Given the description of an element on the screen output the (x, y) to click on. 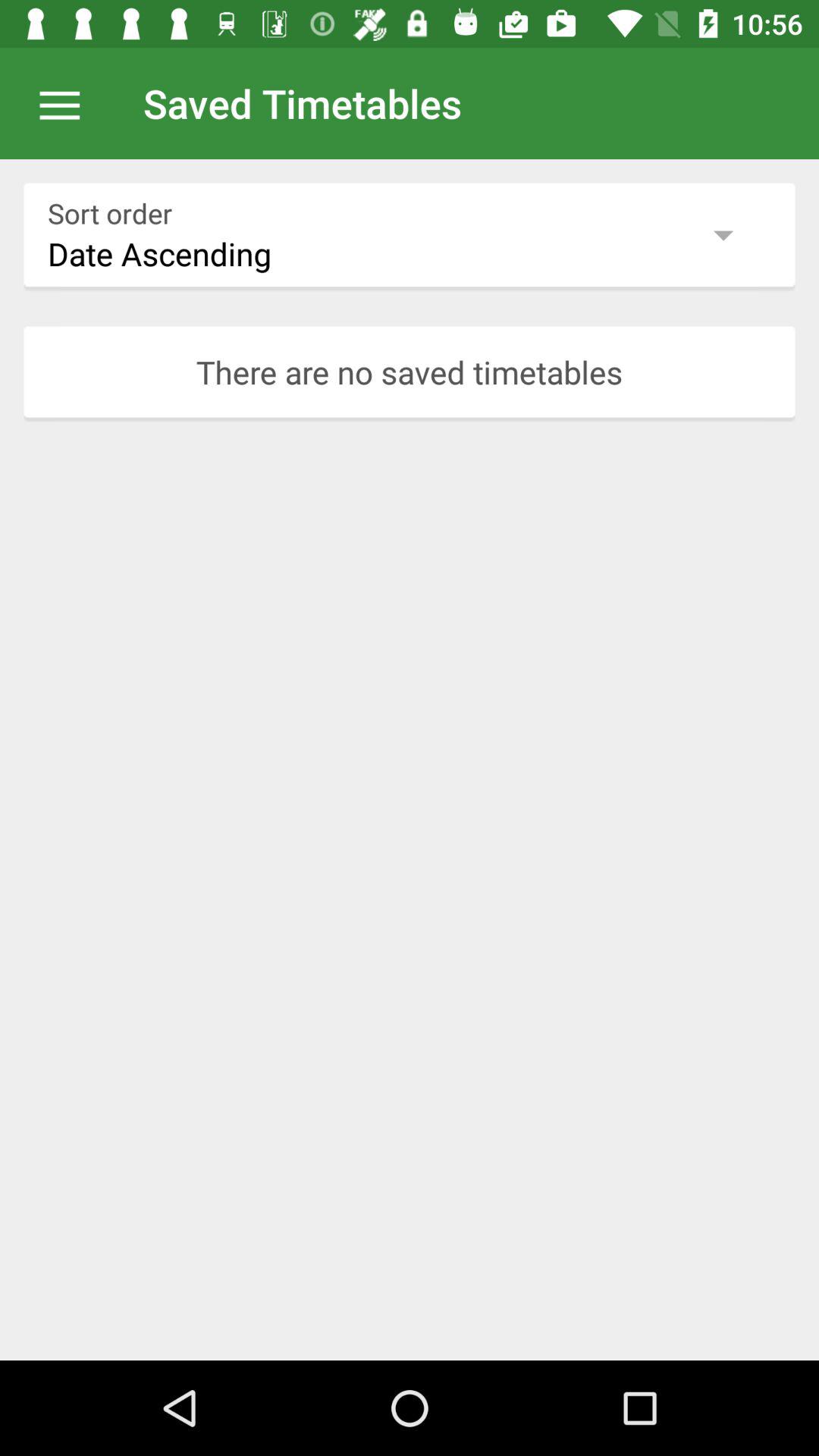
setting button (67, 103)
